Given the description of an element on the screen output the (x, y) to click on. 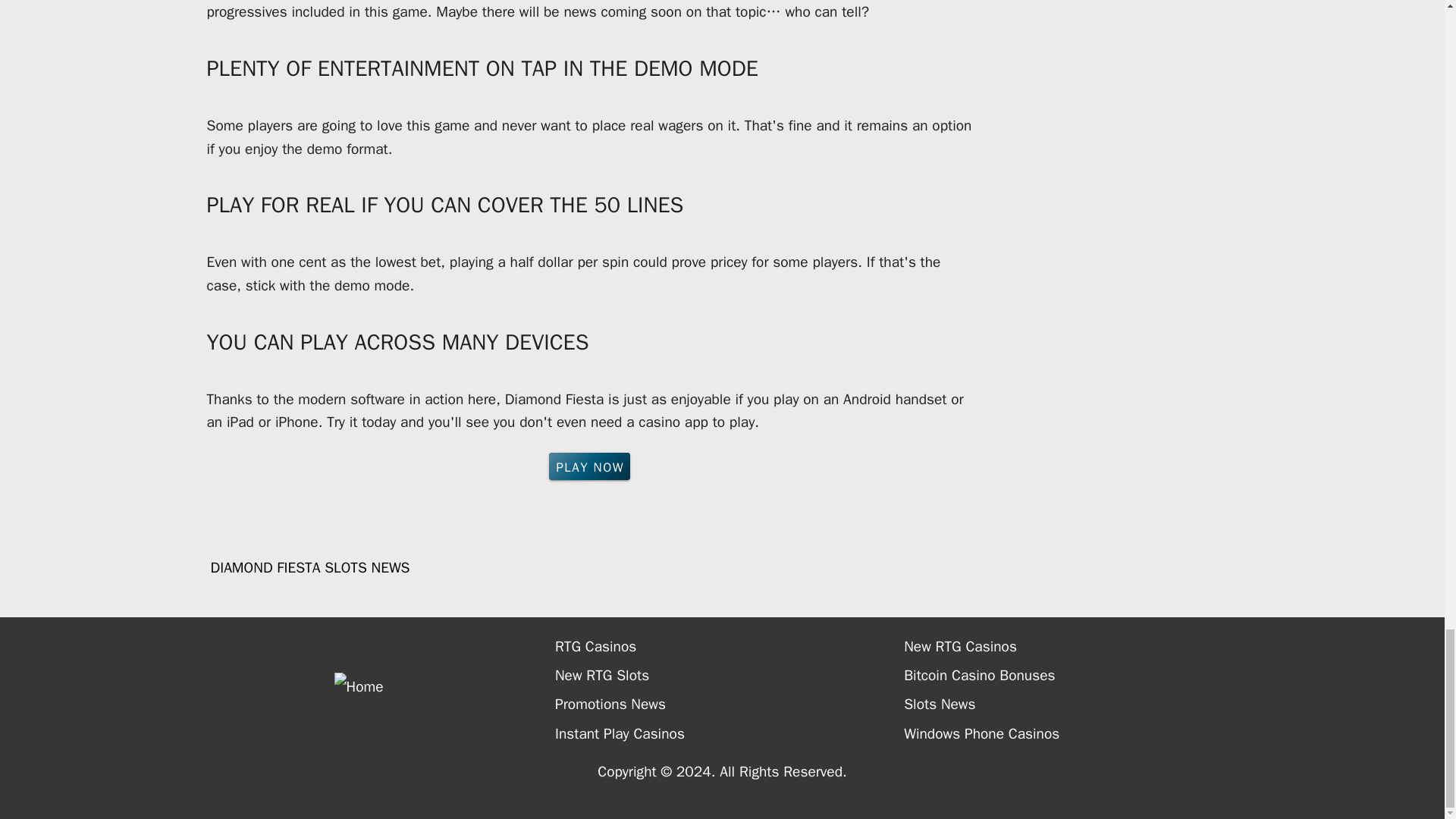
Instant Play Casinos (729, 733)
Bitcoin Casino Bonuses (1078, 675)
PLAY NOW (589, 465)
Windows Phone Casinos (1078, 733)
Slots News (1078, 704)
RTG Casinos (729, 646)
Promotions News (729, 704)
New RTG Casinos (1078, 646)
New RTG Slots (729, 675)
